Given the description of an element on the screen output the (x, y) to click on. 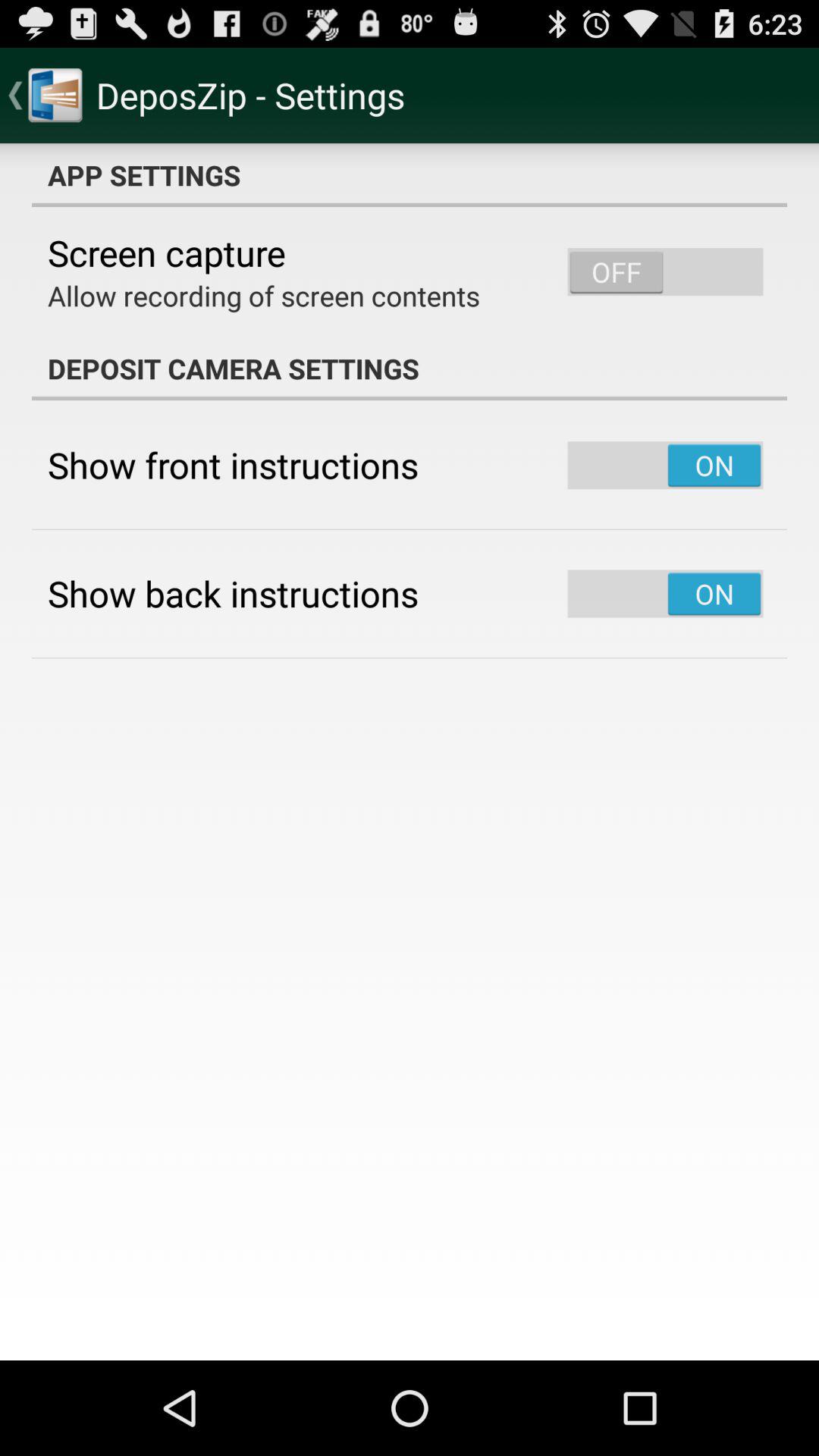
swipe to the allow recording of (263, 295)
